Given the description of an element on the screen output the (x, y) to click on. 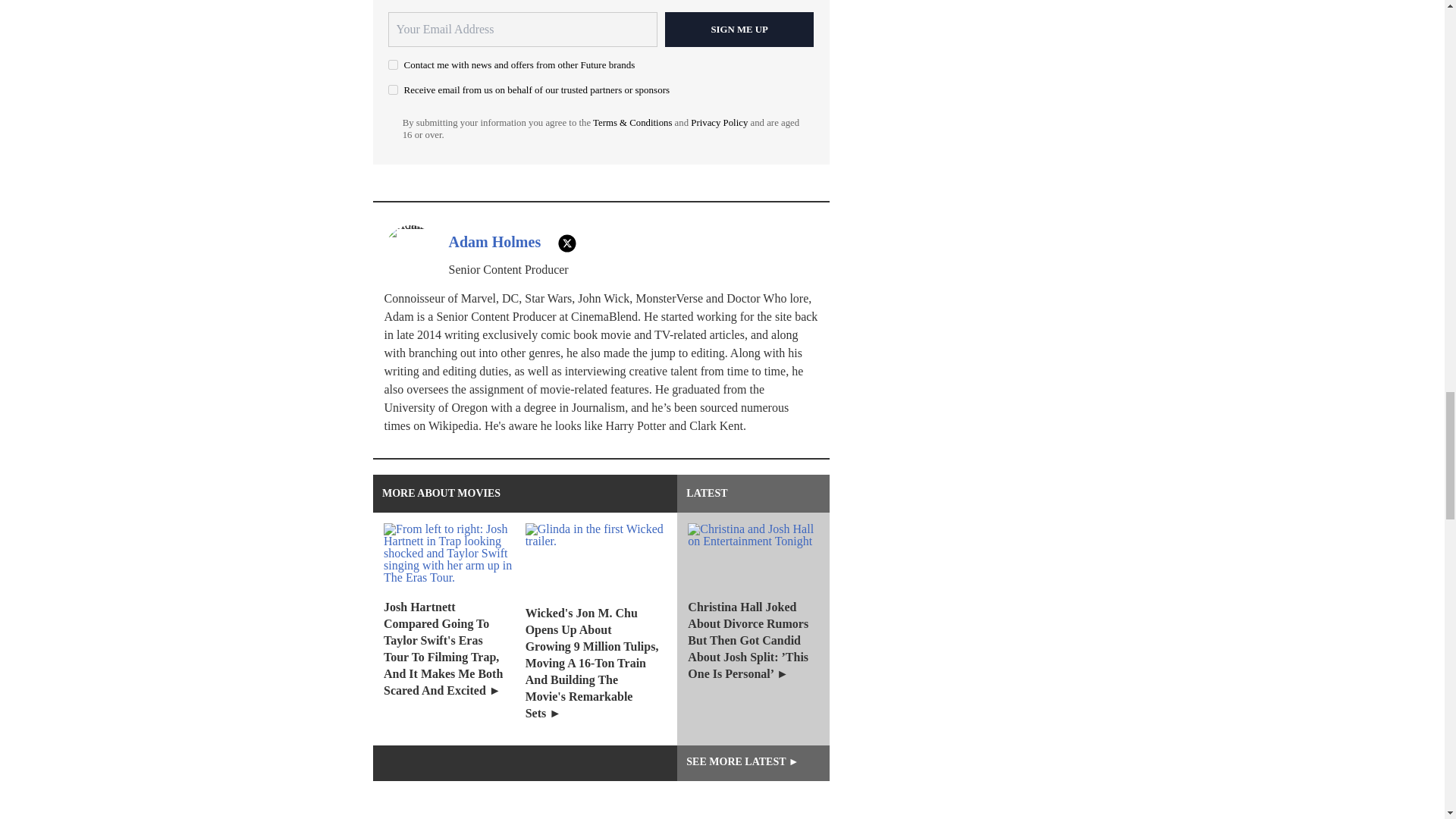
on (392, 64)
Sign me up (739, 29)
on (392, 90)
